Given the description of an element on the screen output the (x, y) to click on. 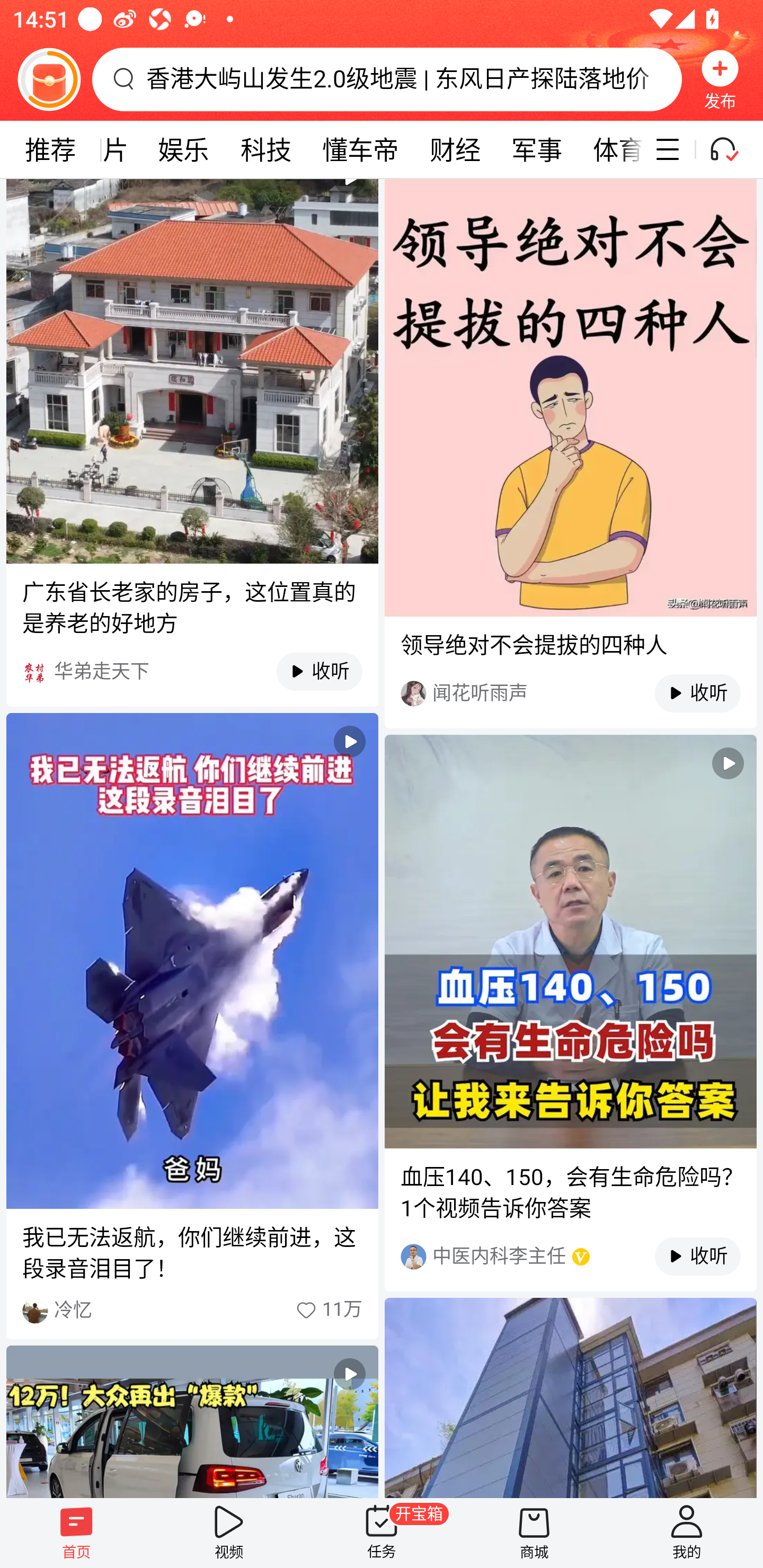
阅读赚金币 (48, 79)
发布 发布，按钮 (720, 78)
推荐 (49, 149)
娱乐 (183, 149)
科技 (265, 149)
懂车帝 (360, 149)
财经 (454, 149)
军事 (536, 149)
体育 (610, 149)
听一听开关 (732, 149)
视频 广东省长老家的房子，这位置真的是养老的好地方  作者,华弟走天下,按钮 华弟走天下 收听 (192, 442)
领导绝对不会提拔的四种人  作者,闻花听雨声,按钮 闻花听雨声 收听 (570, 453)
作者,华弟走天下,按钮 华弟走天下 收听 (192, 671)
收听 (309, 671)
作者,闻花听雨声,按钮 闻花听雨声 收听 (570, 693)
收听 (687, 692)
视频 我已无法返航，你们继续前进，这段录音泪目了！  作者,冷忆,按钮 冷忆 赞11万 赞 (192, 1026)
作者,中医内科李主任,认证用户 按钮 中医内科李主任 收听 (570, 1256)
收听 (687, 1256)
作者,冷忆,按钮 冷忆 赞11万 赞 (192, 1310)
首页 (76, 1532)
视频 (228, 1532)
任务 开宝箱 (381, 1532)
商城 (533, 1532)
我的 (686, 1532)
